Given the description of an element on the screen output the (x, y) to click on. 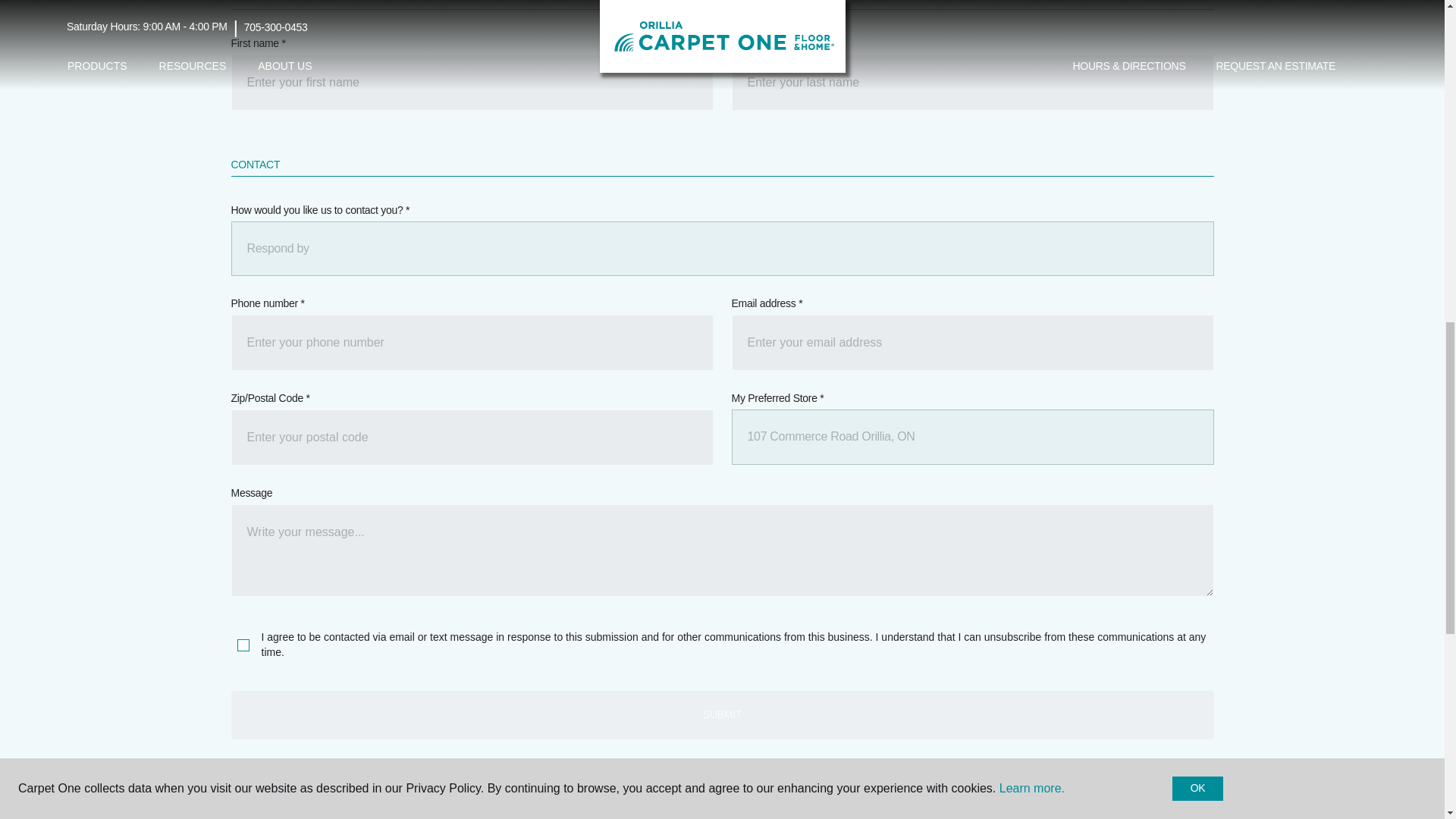
MyMessage (721, 550)
FirstName (471, 82)
PostalCode (471, 437)
EmailAddress (971, 342)
CleanHomePhone (471, 342)
LastName (971, 82)
